Given the description of an element on the screen output the (x, y) to click on. 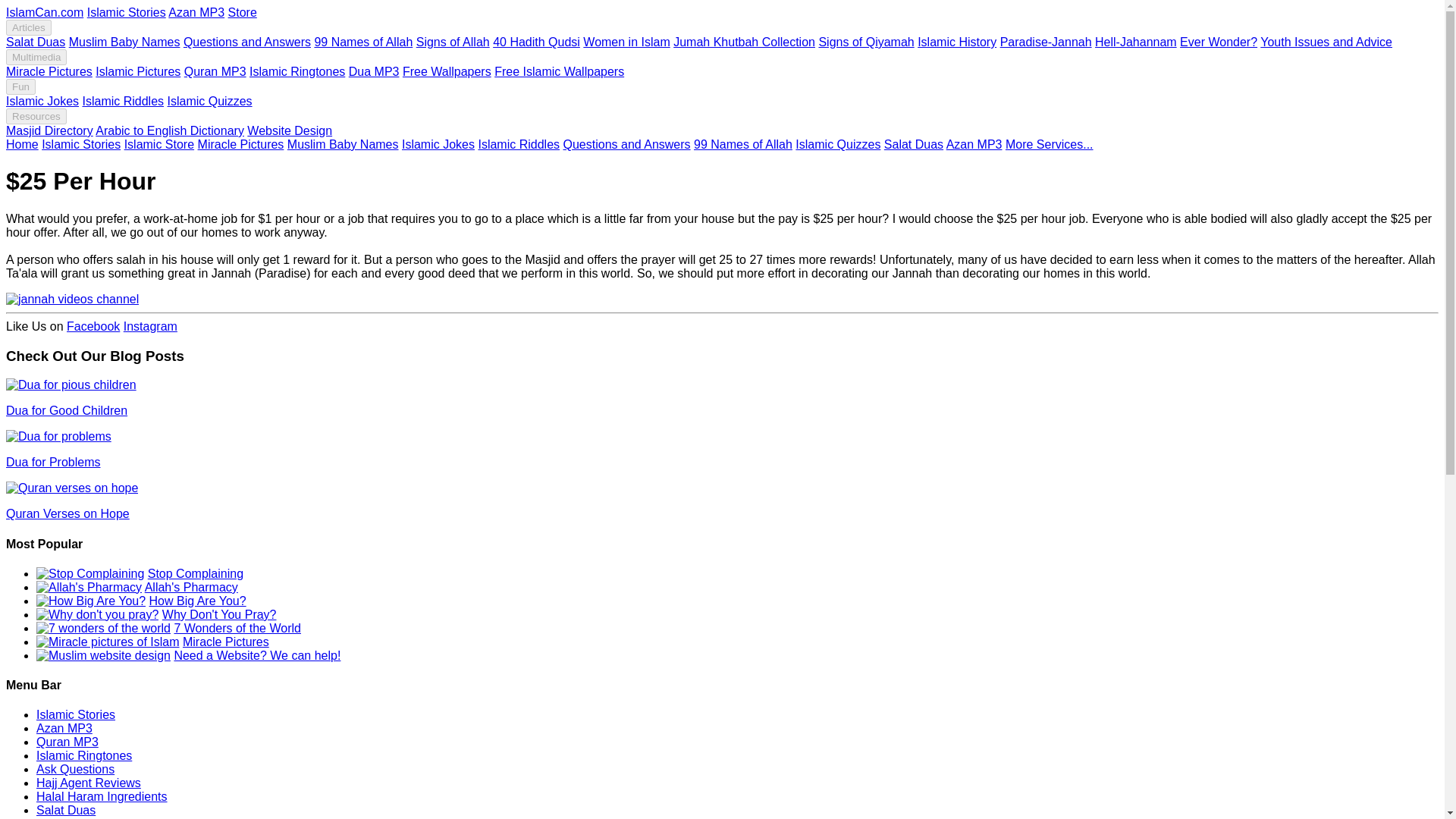
Hell-Jahannam (1135, 42)
Islamic Store (158, 144)
Website Design (289, 130)
Azan MP3 (196, 11)
IslamCan.com (43, 11)
Youth Issues and Advice (1325, 42)
Jumah Khutbah Collection (743, 42)
Paradise-Jannah (1046, 42)
Miracle Pictures (49, 71)
Store (242, 11)
Muslim Baby Names (124, 42)
Islamic Riddles (122, 101)
Signs of Allah (452, 42)
Dua MP3 (373, 71)
Resources (35, 116)
